Given the description of an element on the screen output the (x, y) to click on. 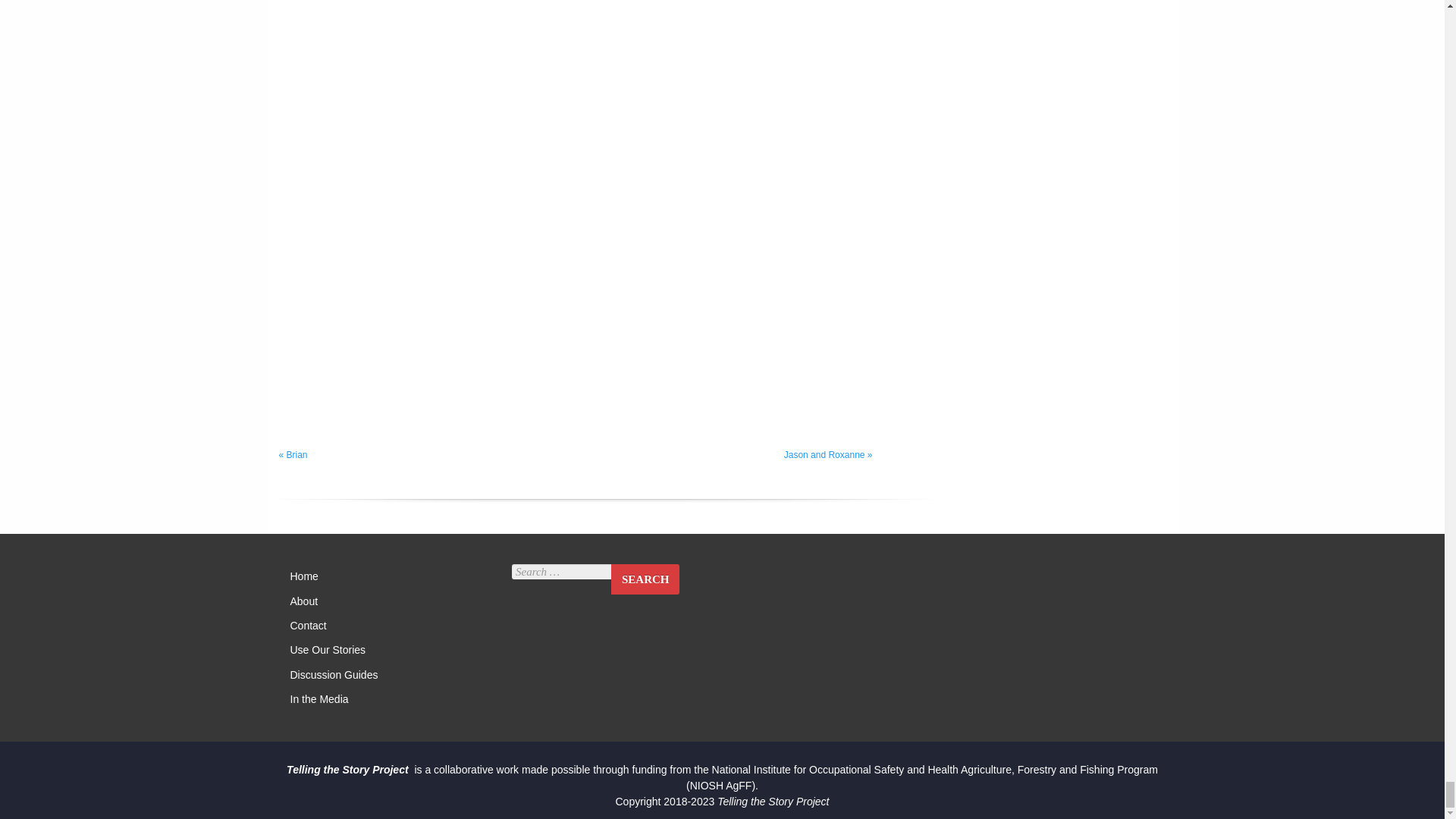
Search (645, 579)
Search (645, 579)
